Given the description of an element on the screen output the (x, y) to click on. 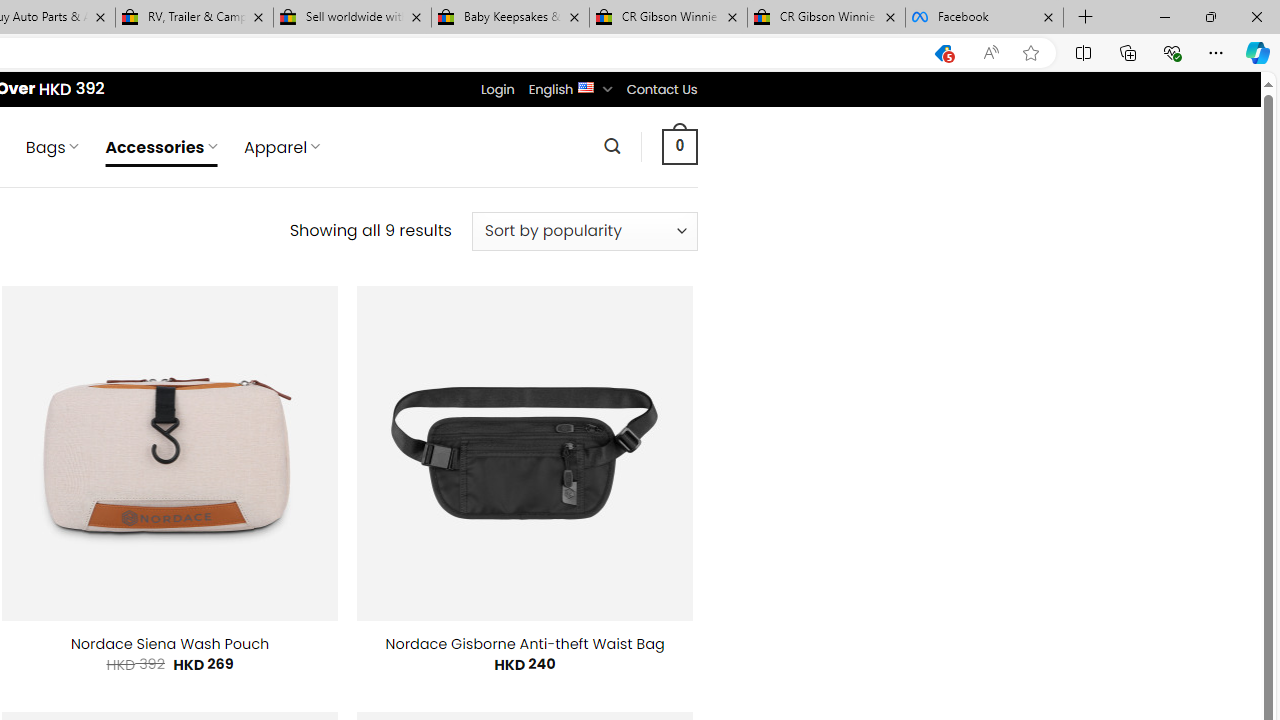
  0   (679, 146)
